Given the description of an element on the screen output the (x, y) to click on. 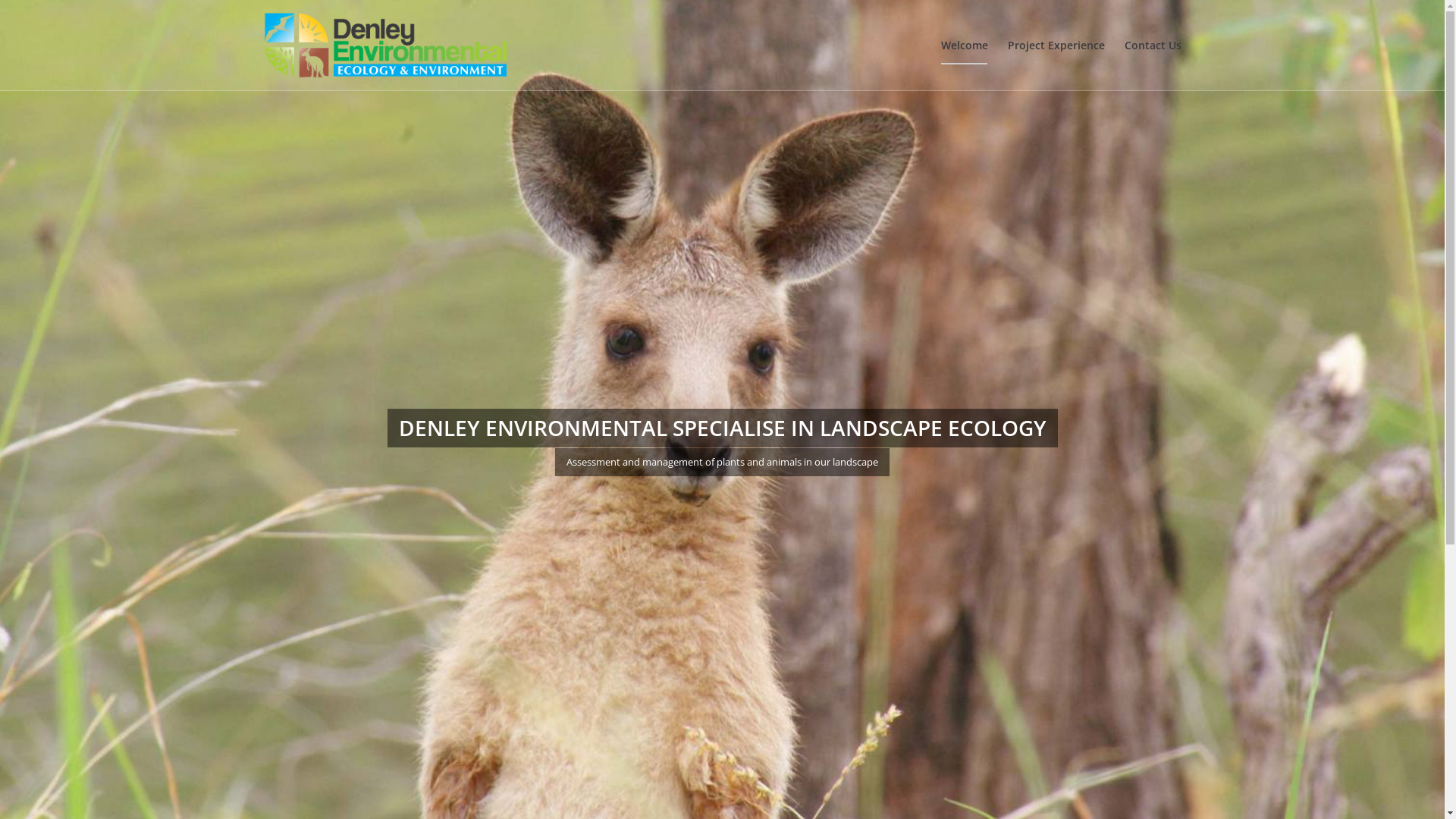
Project Experience Element type: text (1055, 45)
Welcome Element type: text (964, 45)
Contact Us Element type: text (1147, 45)
